Given the description of an element on the screen output the (x, y) to click on. 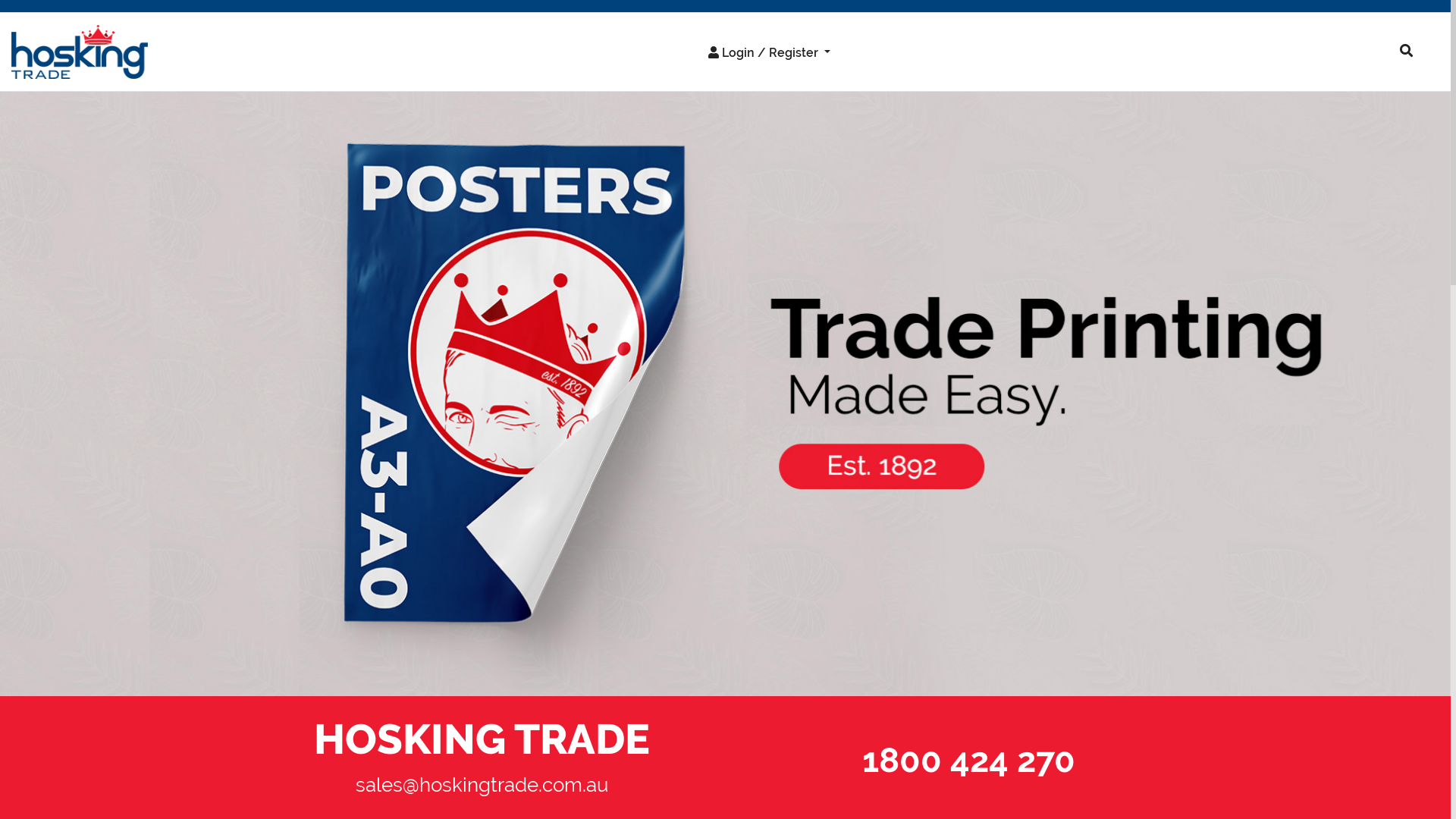
<i class='fal fa-unlock pr-1'></i> Login Element type: text (746, 84)
sales@hoskingtrade.com.au Element type: text (481, 784)
Hosking Trade Element type: hover (725, 393)
Login / Register Element type: text (769, 52)
